Given the description of an element on the screen output the (x, y) to click on. 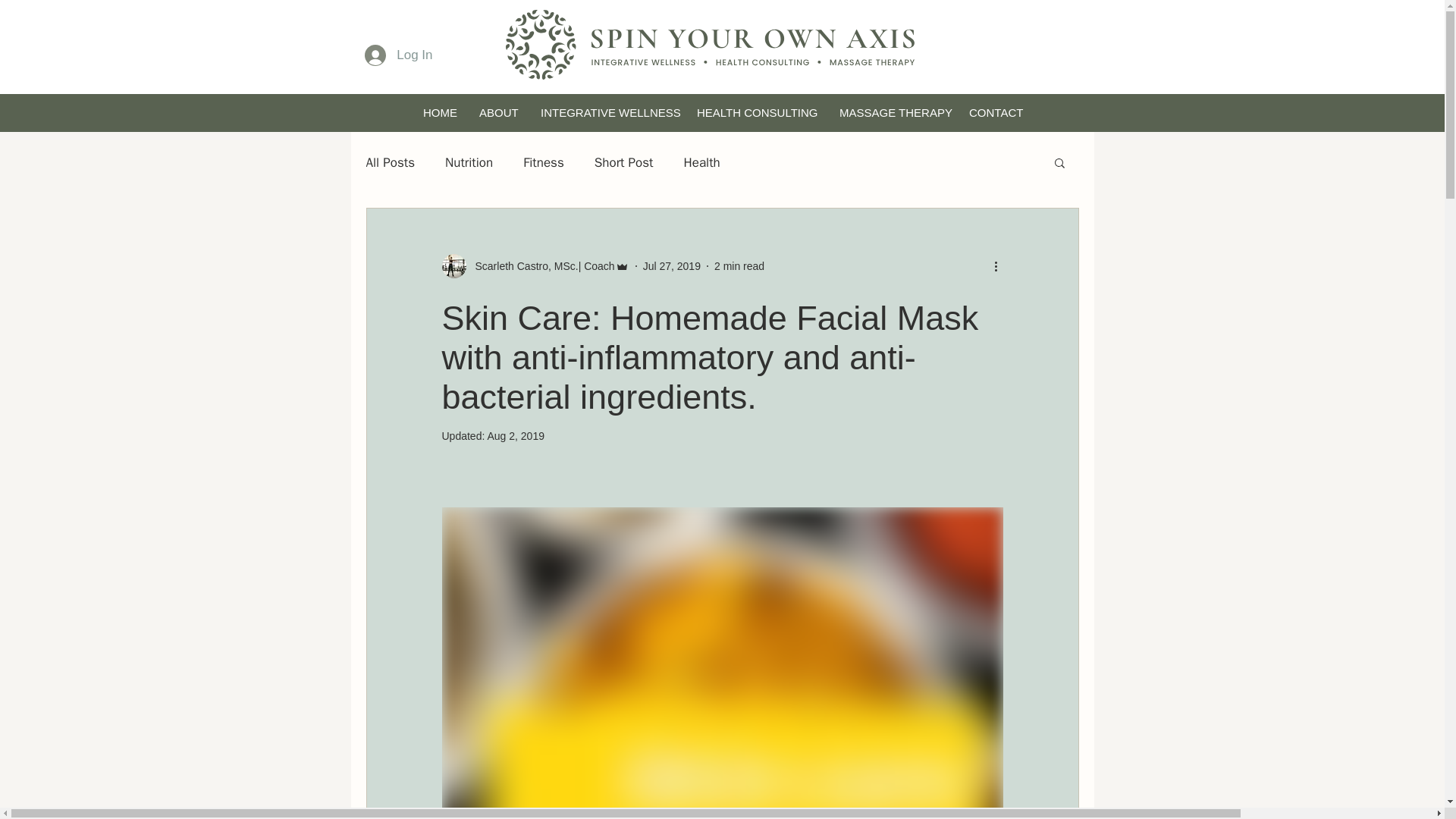
Aug 2, 2019 (515, 435)
Nutrition (469, 161)
INTEGRATIVE WELLNESS (606, 112)
CONTACT (994, 112)
Jul 27, 2019 (671, 265)
MASSAGE THERAPY (891, 112)
HEALTH CONSULTING (755, 112)
Short Post (623, 161)
2 min read (739, 265)
HOME (438, 112)
